Given the description of an element on the screen output the (x, y) to click on. 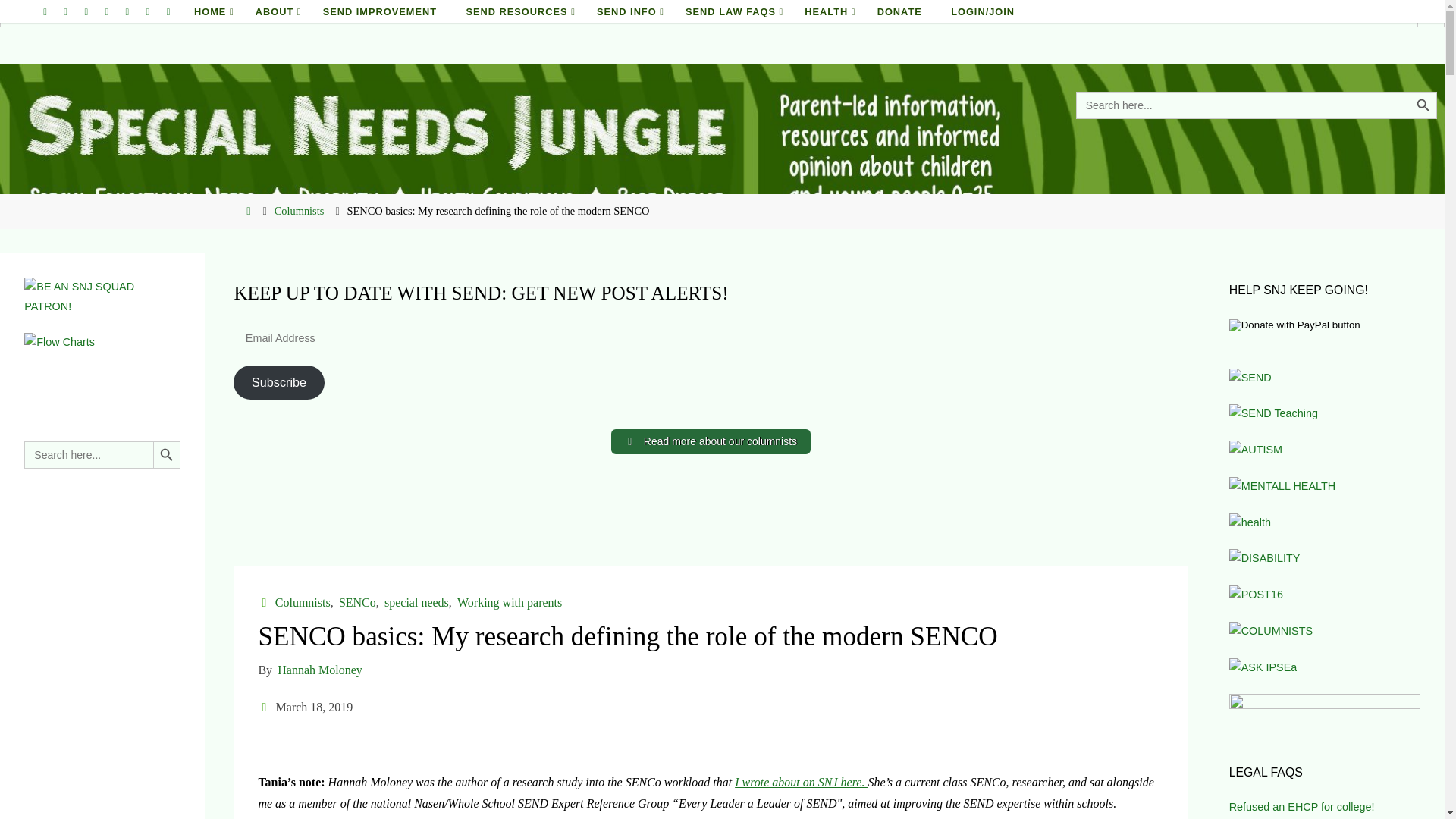
View all posts by Hannah Moloney (318, 669)
Categories (264, 602)
SPECIAL NEEDS JUNGLE (65, 51)
Date (264, 707)
